Given the description of an element on the screen output the (x, y) to click on. 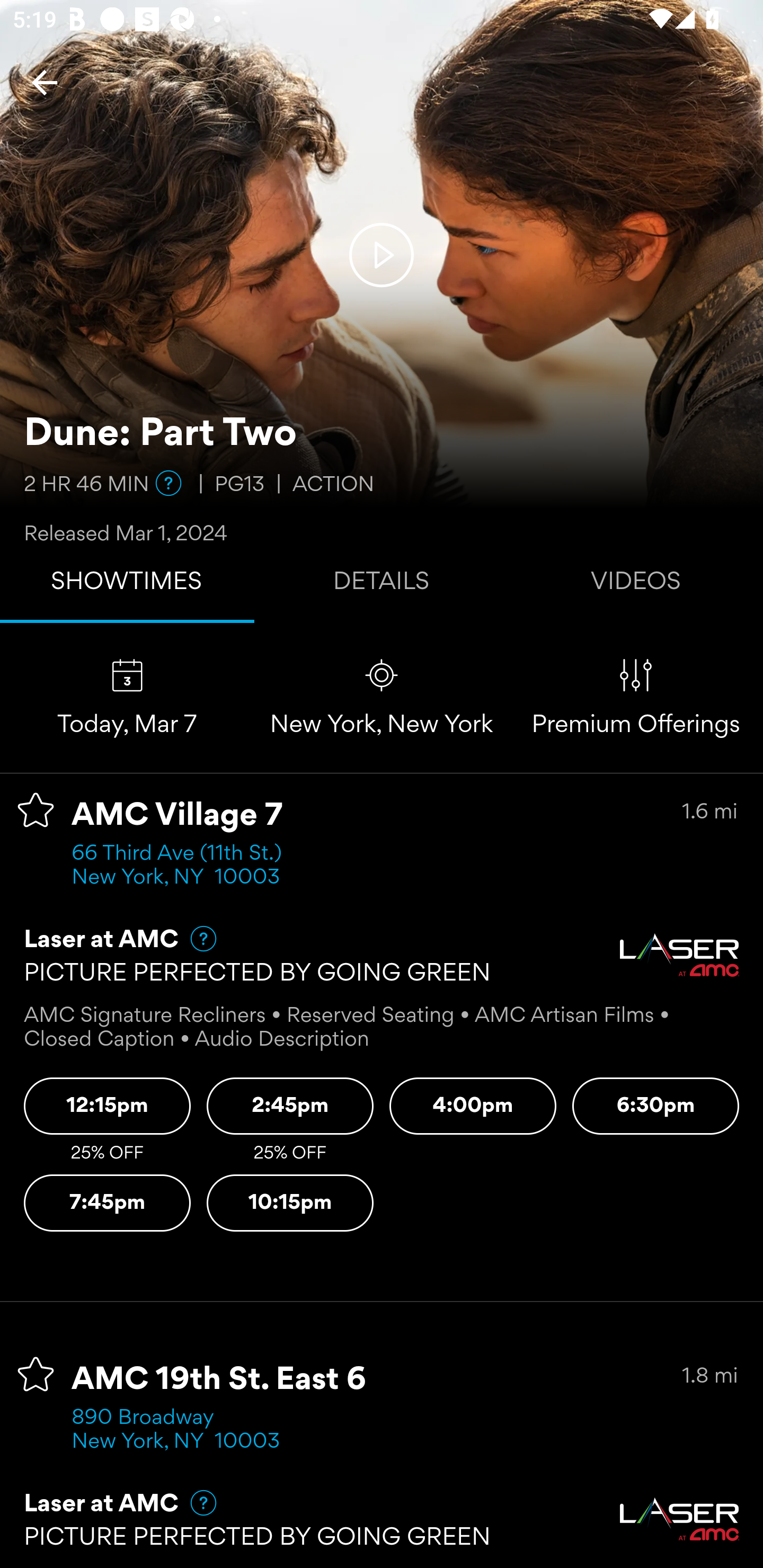
Back (44, 82)
Play (381, 254)
Help (168, 482)
SHOWTIMES
Tab 1 of 3 (127, 584)
DETAILS
Tab 2 of 3 (381, 584)
VIDEOS
Tab 3 of 3 (635, 584)
Change selected day
Today, Mar 7 (127, 697)
Change location
New York, New York (381, 697)
Premium Offerings
Premium Offerings (635, 697)
AMC Village 7 (177, 816)
66 Third Ave (11th St.)  
New York, NY  10003 (182, 866)
Help (195, 938)
AMC Village 7 Laser at AMC 12:15pm Showtime Button (106, 1105)
AMC Village 7 Laser at AMC 2:45pm Showtime Button (289, 1105)
AMC Village 7 Laser at AMC 4:00pm Showtime Button (472, 1105)
AMC Village 7 Laser at AMC 6:30pm Showtime Button (655, 1105)
AMC Village 7 Laser at AMC 7:45pm Showtime Button (106, 1203)
AMC Village 7 Laser at AMC 10:15pm Showtime Button (289, 1203)
AMC 19th St. East 6 (219, 1380)
890 Broadway  
New York, NY  10003 (176, 1429)
Help (195, 1502)
